Given the description of an element on the screen output the (x, y) to click on. 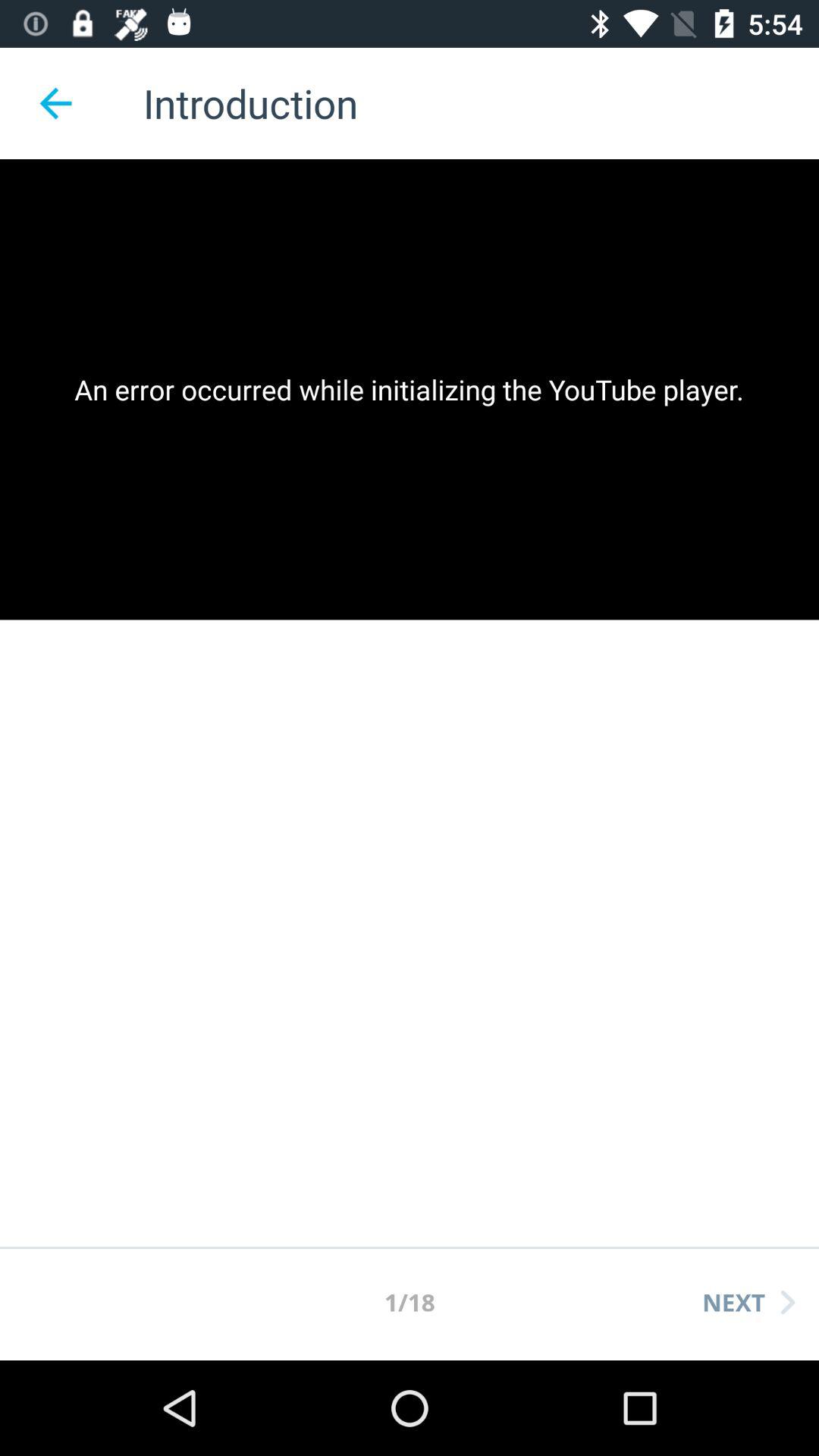
select the next item (748, 1302)
